Given the description of an element on the screen output the (x, y) to click on. 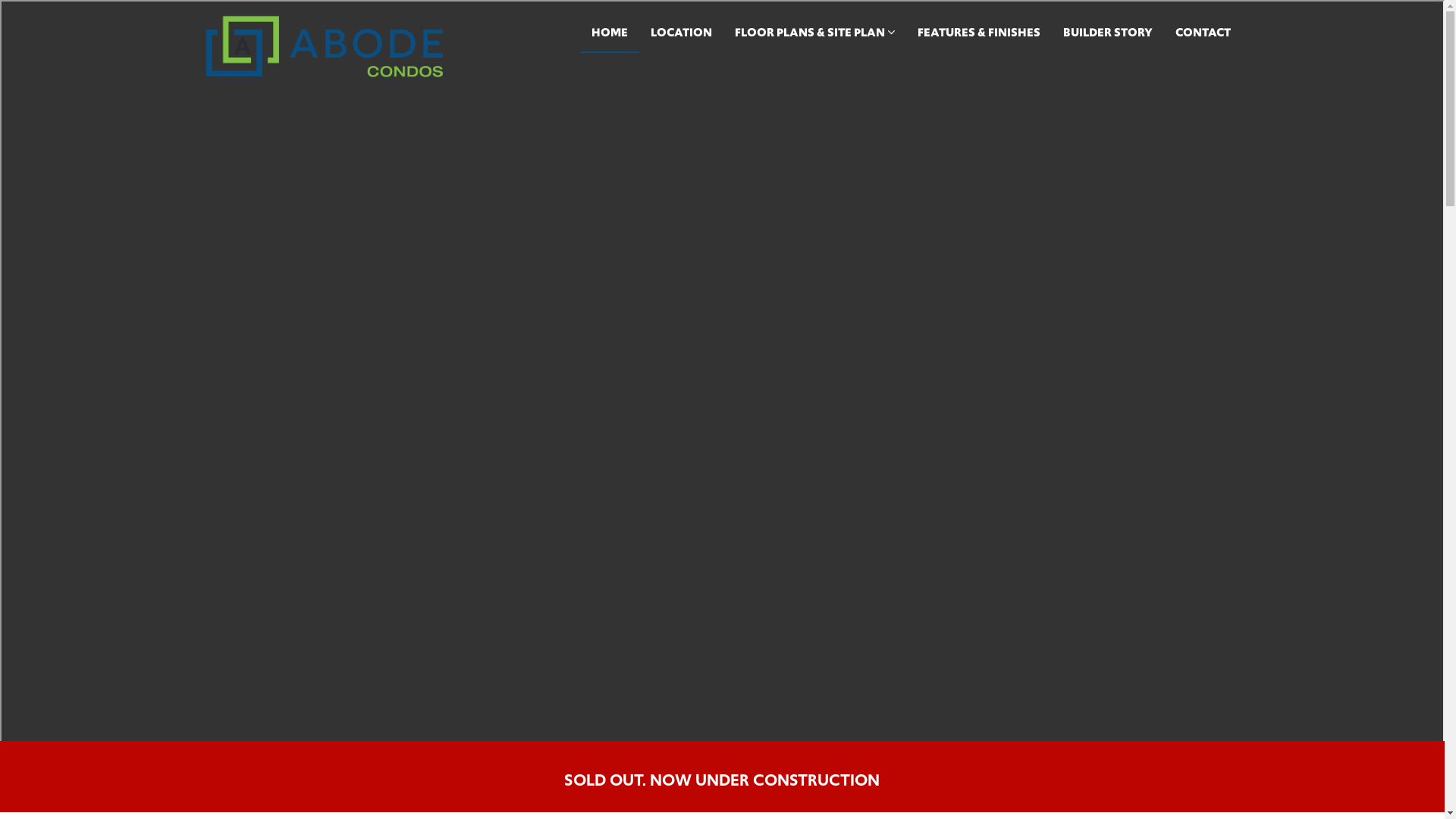
FEATURES & FINISHES Element type: text (978, 32)
BUILDER STORY Element type: text (1107, 32)
LOCATION Element type: text (680, 32)
HOME Element type: text (608, 33)
FLOOR PLANS & SITE PLAN Element type: text (814, 32)
CONTACT Element type: text (1202, 32)
Abode - Staging  Element type: hover (324, 45)
